Given the description of an element on the screen output the (x, y) to click on. 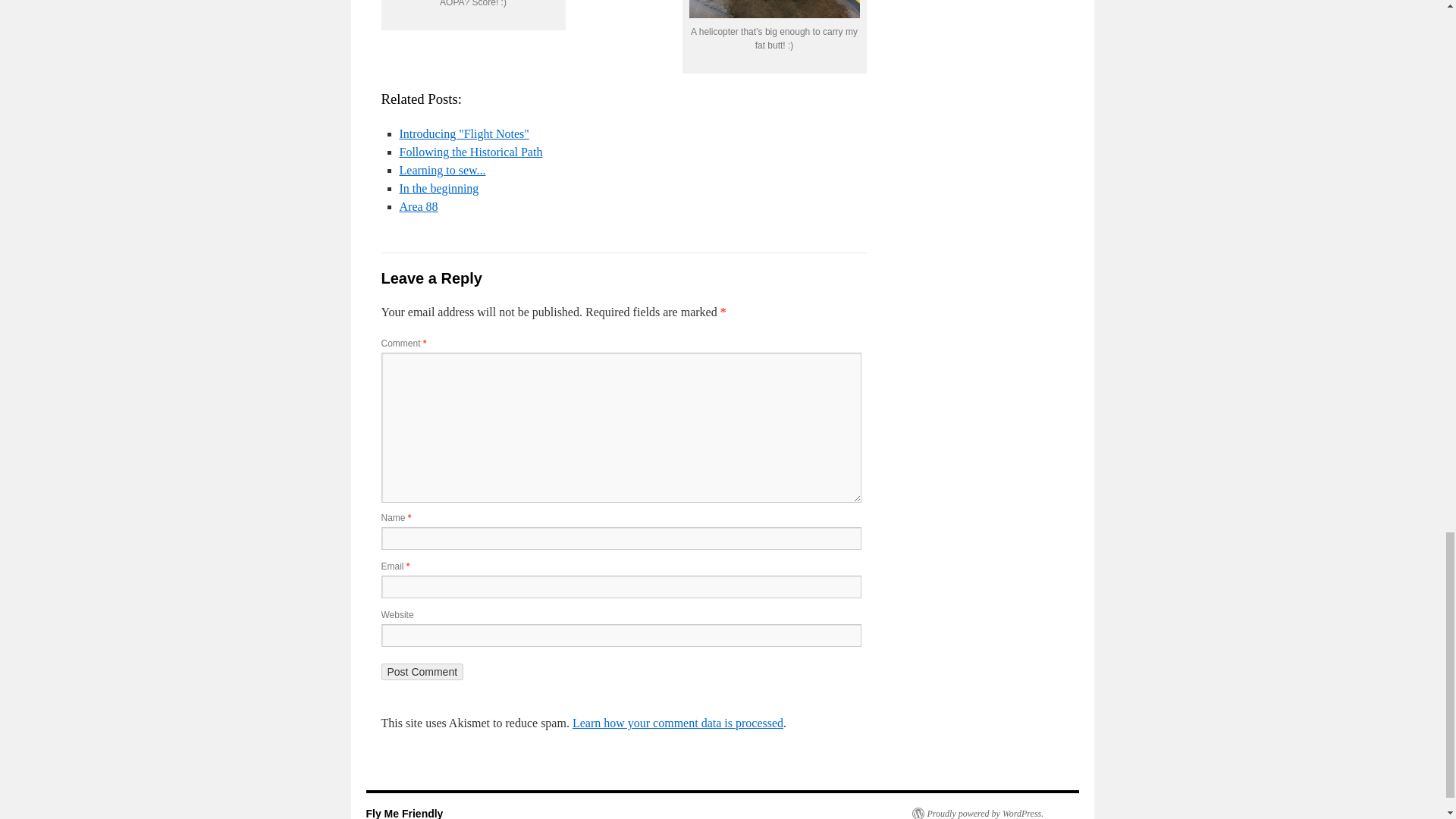
Introducing "Flight Notes" (463, 133)
Post Comment (421, 671)
Learn how your comment data is processed (677, 722)
In the beginning (438, 187)
Following the Historical Path (469, 151)
Learning to sew... (441, 169)
Area 88 (418, 205)
Post Comment (421, 671)
